Given the description of an element on the screen output the (x, y) to click on. 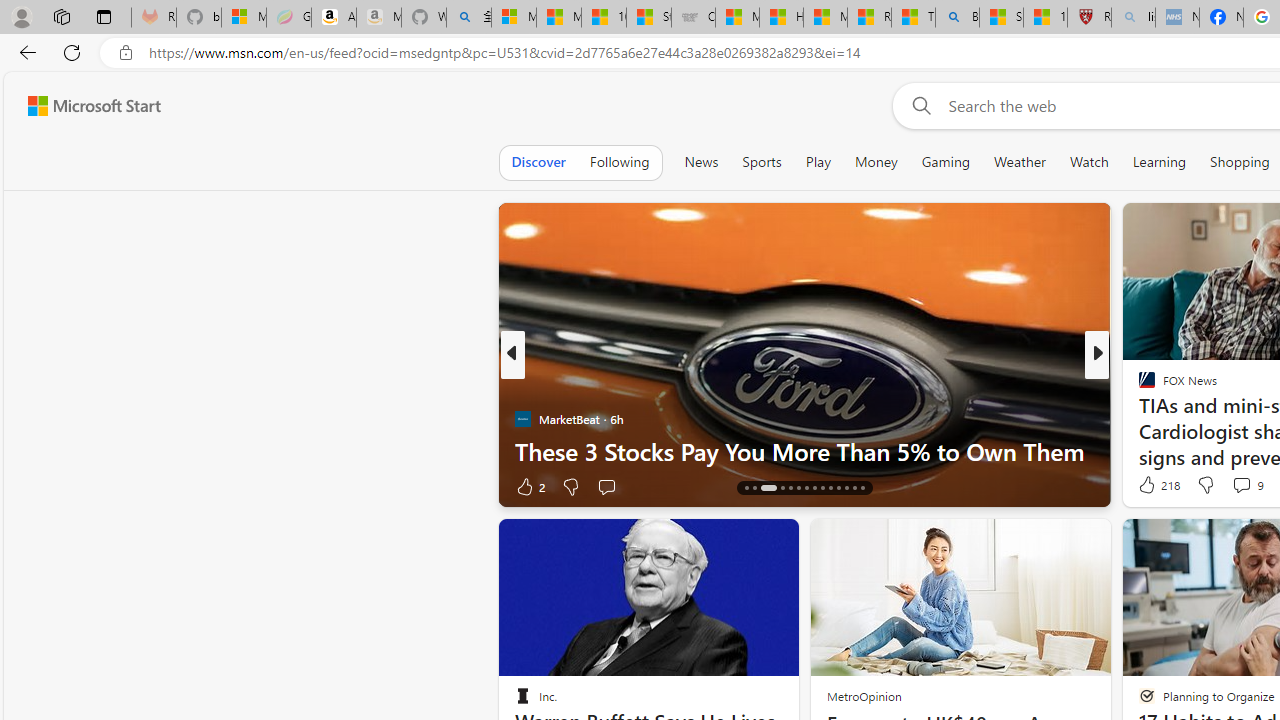
154 Like (1151, 486)
View comments 66 Comment (1234, 485)
View comments 34 Comment (1234, 485)
AutomationID: tab-23 (821, 487)
View comments 34 Comment (1244, 486)
USA TODAY (1138, 386)
Sports (761, 161)
ABC News (1138, 386)
AutomationID: tab-26 (846, 487)
